Given the description of an element on the screen output the (x, y) to click on. 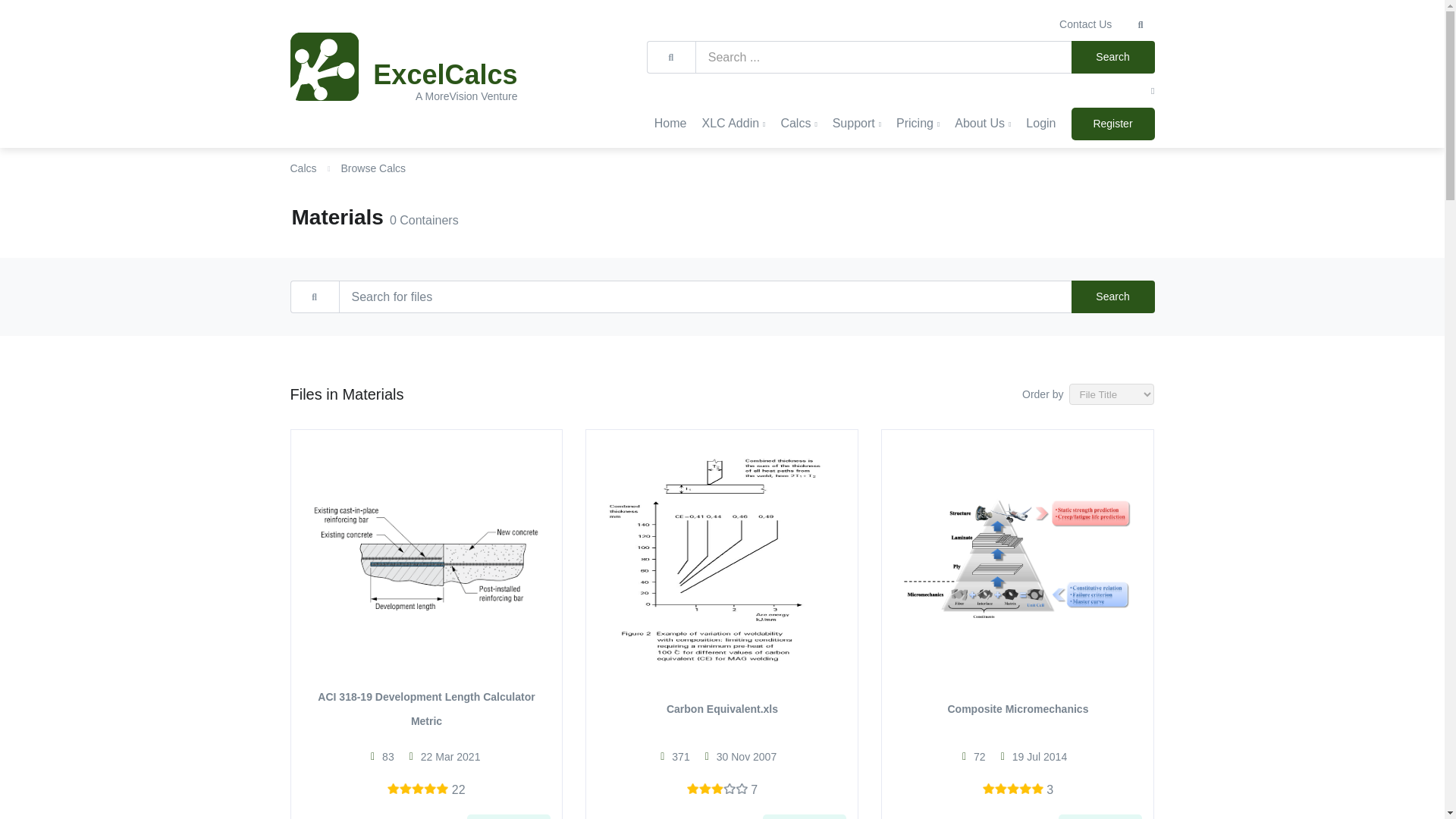
Home (670, 123)
Search (1112, 56)
Register (1112, 123)
Contact Us (1085, 23)
Login (1039, 123)
Search for files (679, 296)
